Given the description of an element on the screen output the (x, y) to click on. 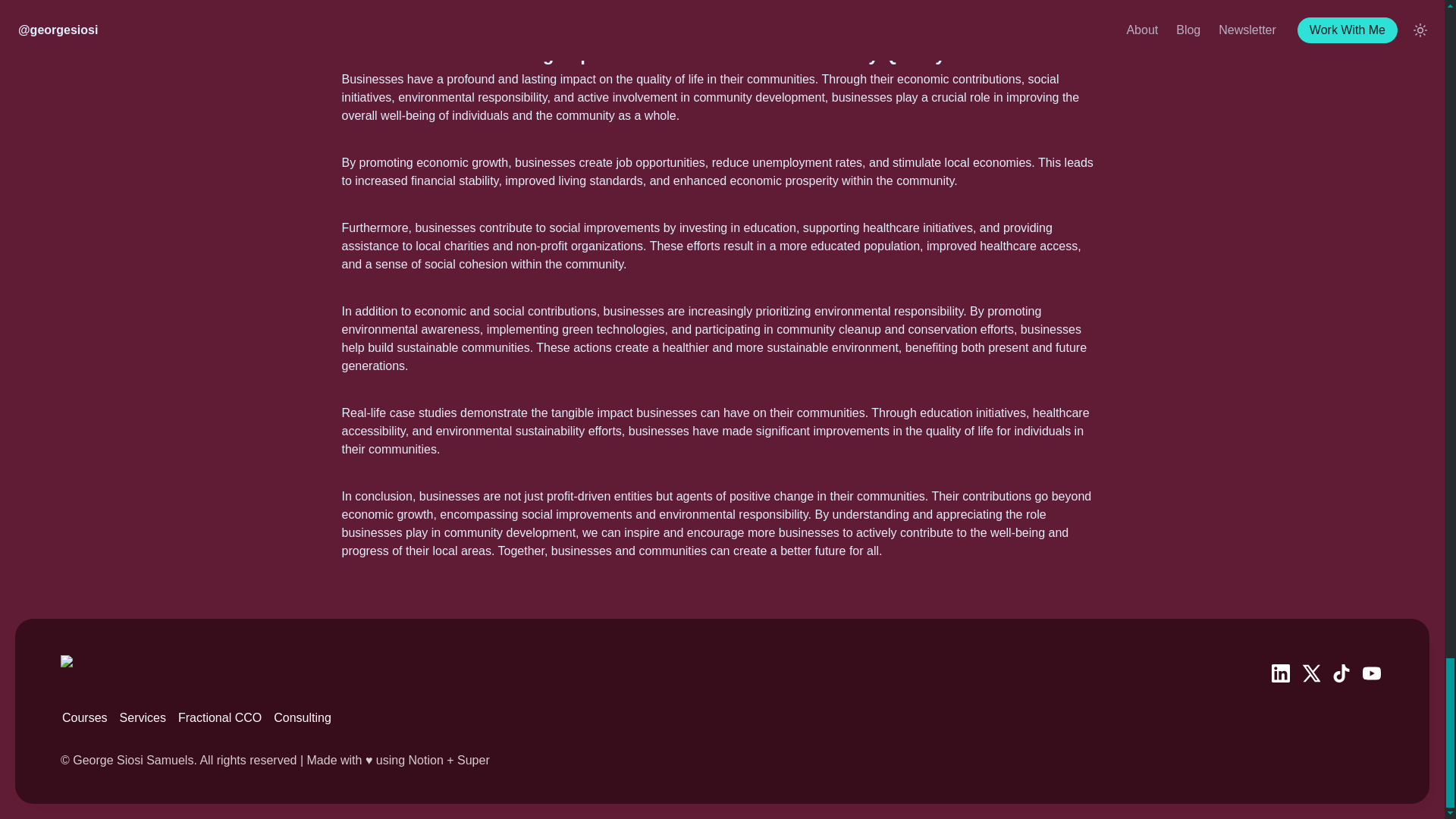
YouTube (1371, 673)
X (1310, 673)
X (1310, 673)
Tiktok (1341, 673)
Courses (85, 718)
Fractional CCO (219, 718)
Consulting (302, 718)
YouTube (1371, 673)
Tiktok (1341, 673)
LinkedIn (1280, 673)
